Given the description of an element on the screen output the (x, y) to click on. 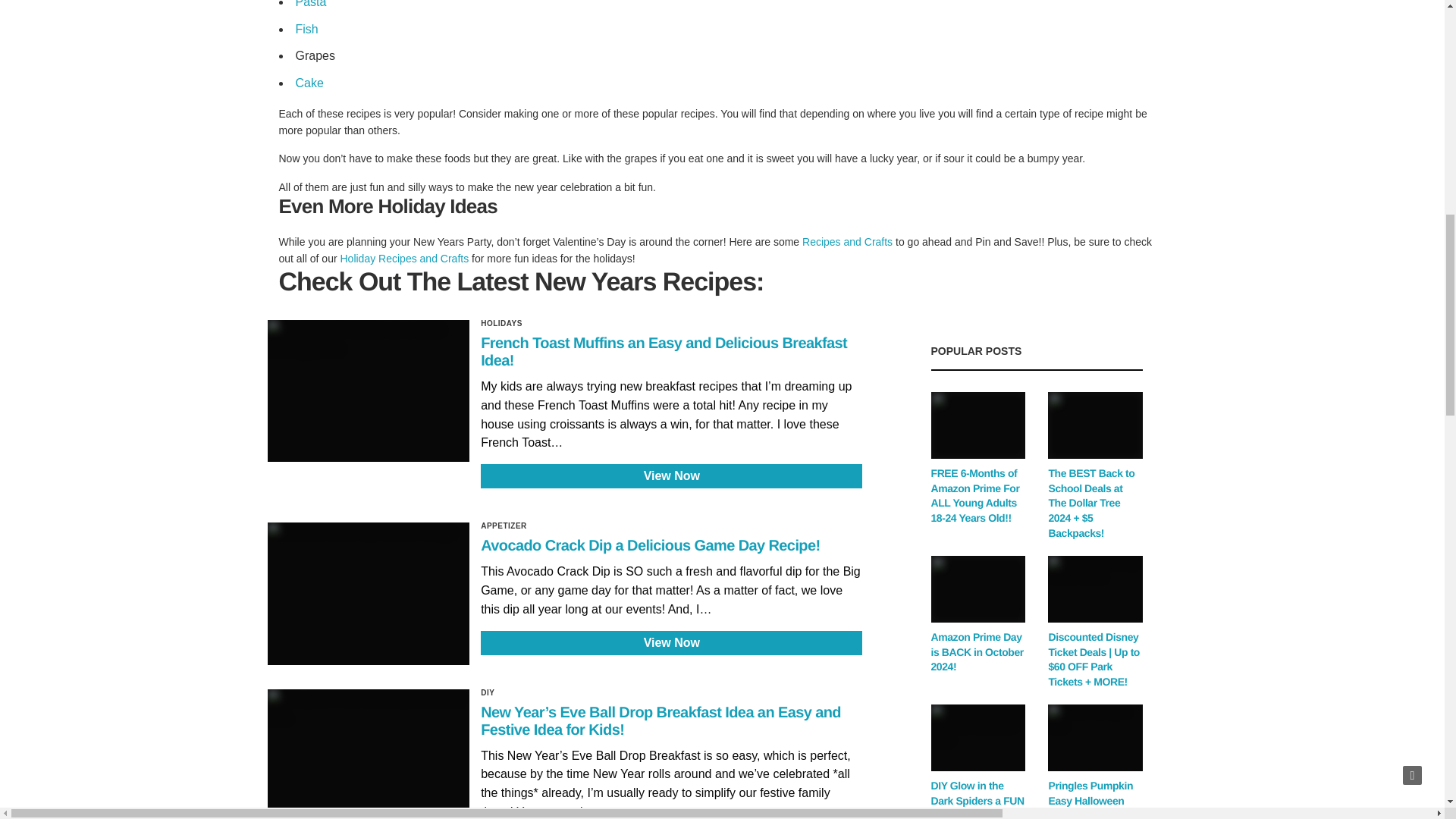
French Toast Muffins an Easy and Delicious Breakfast Idea! (670, 414)
Holidays (501, 323)
French Toast Muffins an Easy and Delicious Breakfast Idea! (663, 351)
Avocado Crack Dip a Delicious Game Day Recipe! (367, 593)
French Toast Muffins an Easy and Delicious Breakfast Idea! (367, 390)
